Given the description of an element on the screen output the (x, y) to click on. 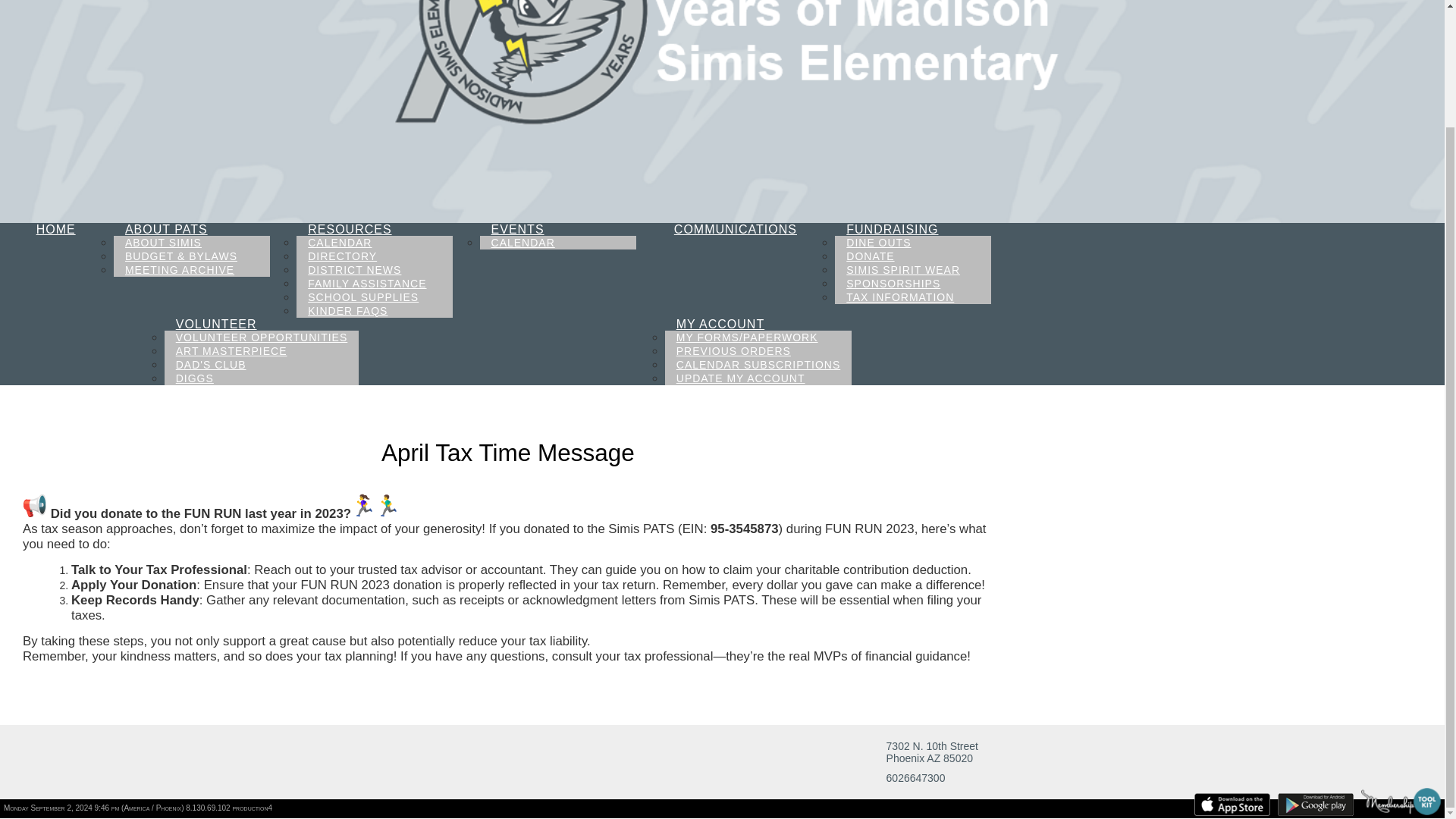
ABOUT SIMIS (162, 242)
SCHOOL SUPPLIES (363, 297)
DINE OUTS (877, 242)
COMMUNICATIONS (735, 229)
CALENDAR (339, 242)
DONATE (869, 256)
MEETING ARCHIVE (179, 269)
KINDER FAQS (347, 310)
DAD'S CLUB (210, 364)
TAX INFORMATION (899, 297)
